Given the description of an element on the screen output the (x, y) to click on. 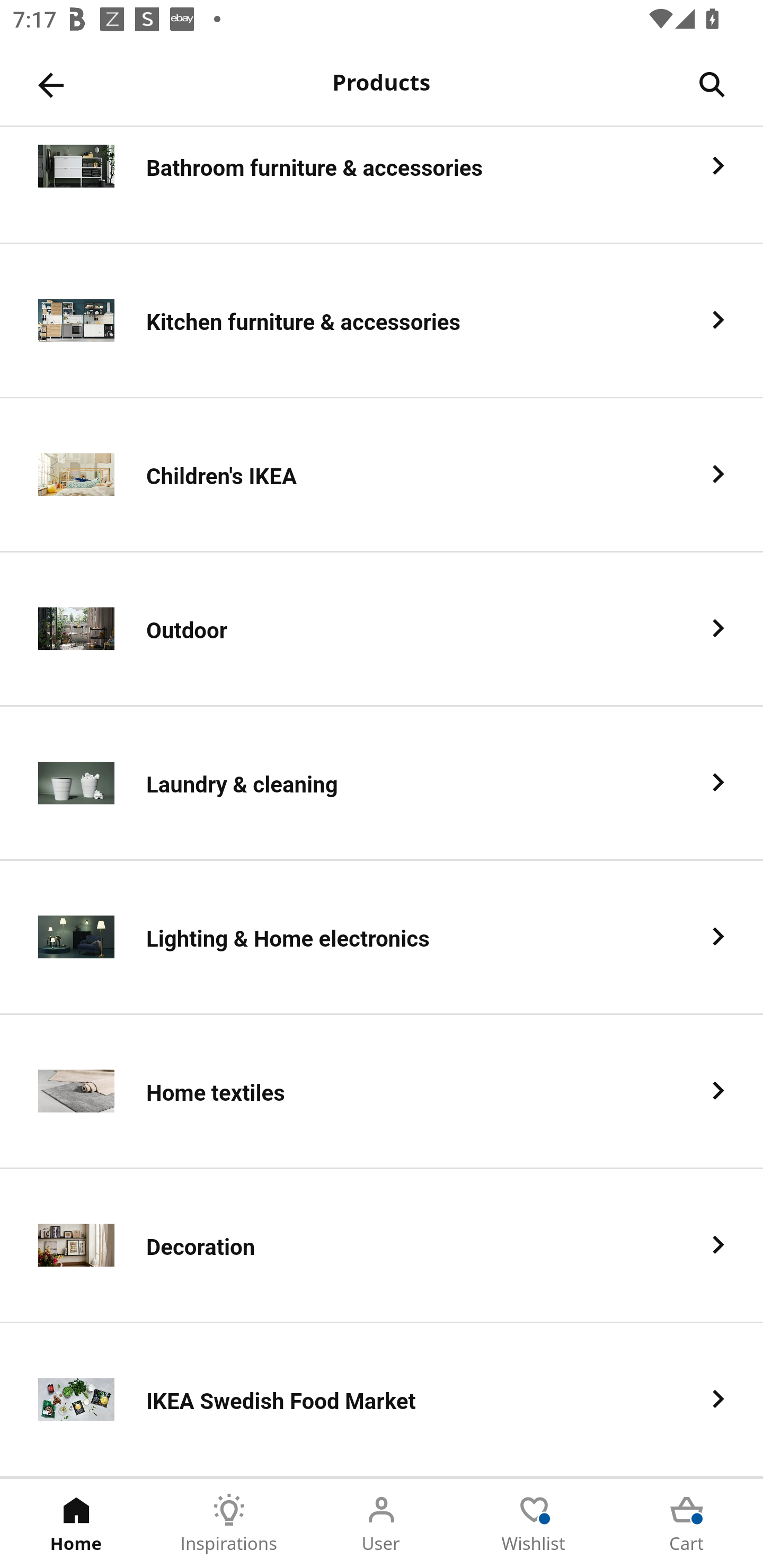
Bathroom furniture & accessories (381, 185)
Kitchen furniture & accessories (381, 321)
Children's IKEA (381, 474)
Outdoor (381, 629)
Laundry & cleaning (381, 783)
Lighting & Home electronics (381, 937)
Home textiles (381, 1091)
Decoration (381, 1246)
IKEA Swedish Food Market (381, 1400)
Home
Tab 1 of 5 (76, 1522)
Inspirations
Tab 2 of 5 (228, 1522)
User
Tab 3 of 5 (381, 1522)
Wishlist
Tab 4 of 5 (533, 1522)
Cart
Tab 5 of 5 (686, 1522)
